Given the description of an element on the screen output the (x, y) to click on. 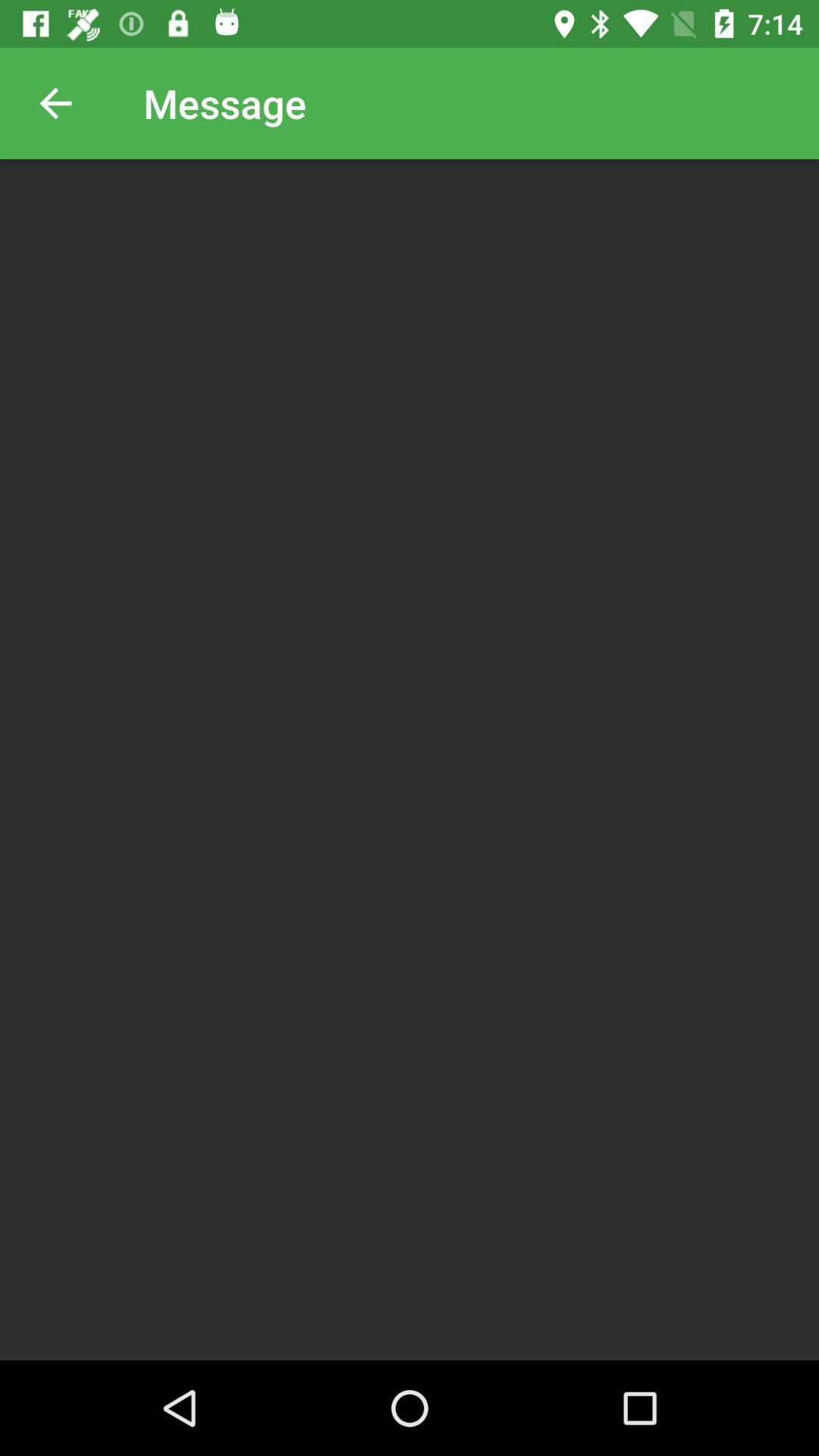
launch icon next to the message item (55, 103)
